Given the description of an element on the screen output the (x, y) to click on. 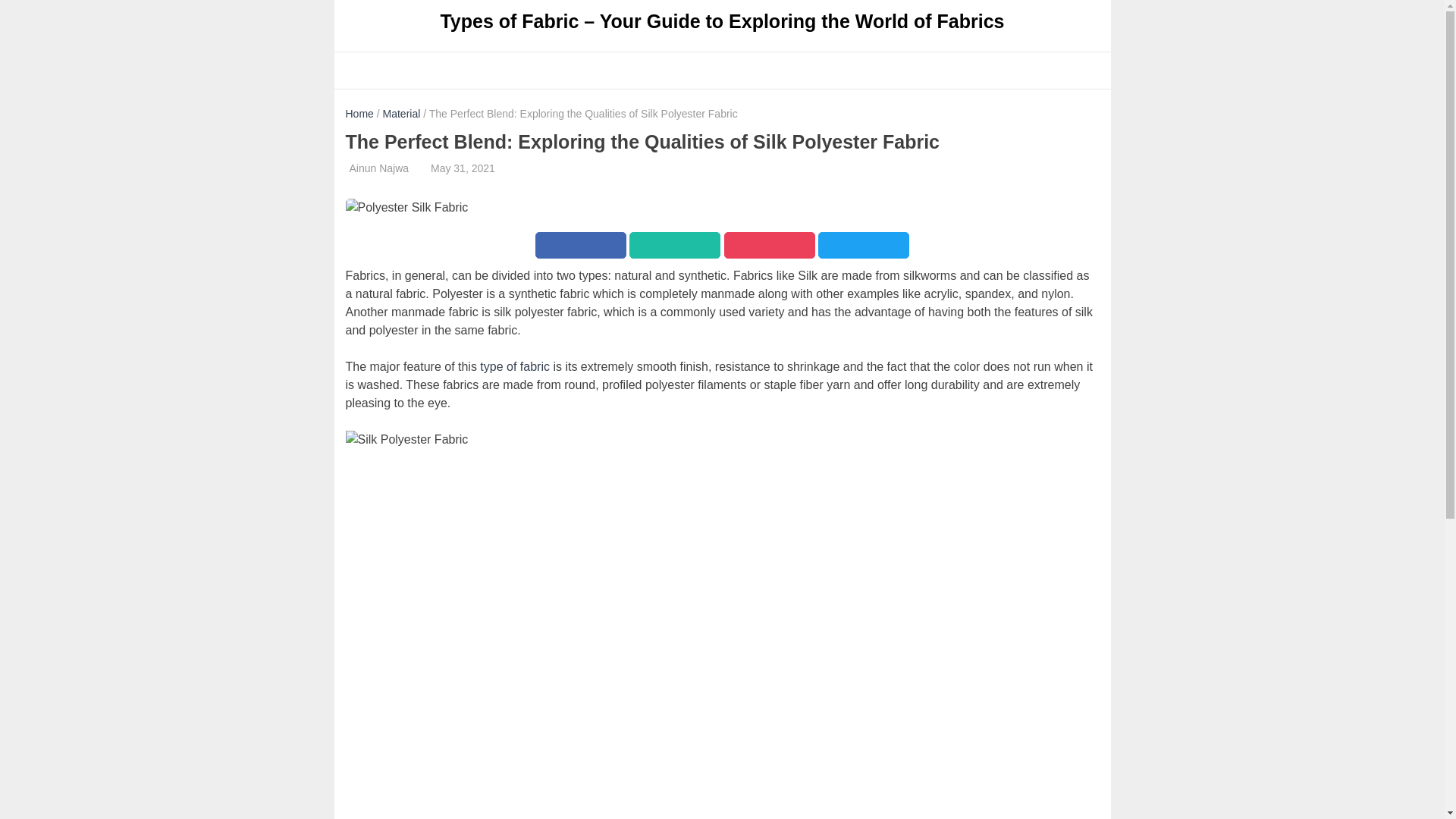
Home (360, 113)
Material (401, 113)
type of fabric (515, 366)
